Given the description of an element on the screen output the (x, y) to click on. 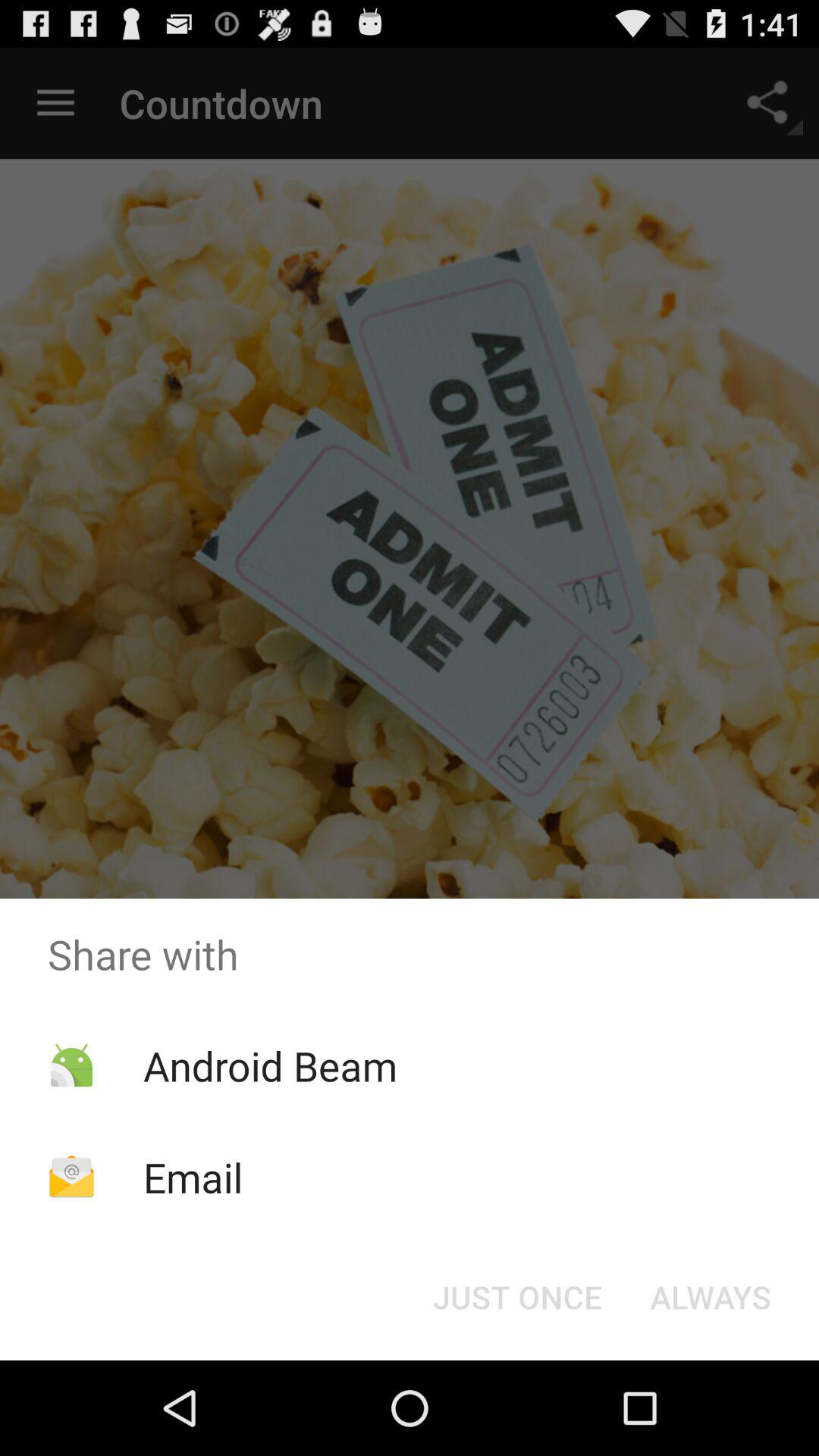
flip until the android beam app (270, 1065)
